Given the description of an element on the screen output the (x, y) to click on. 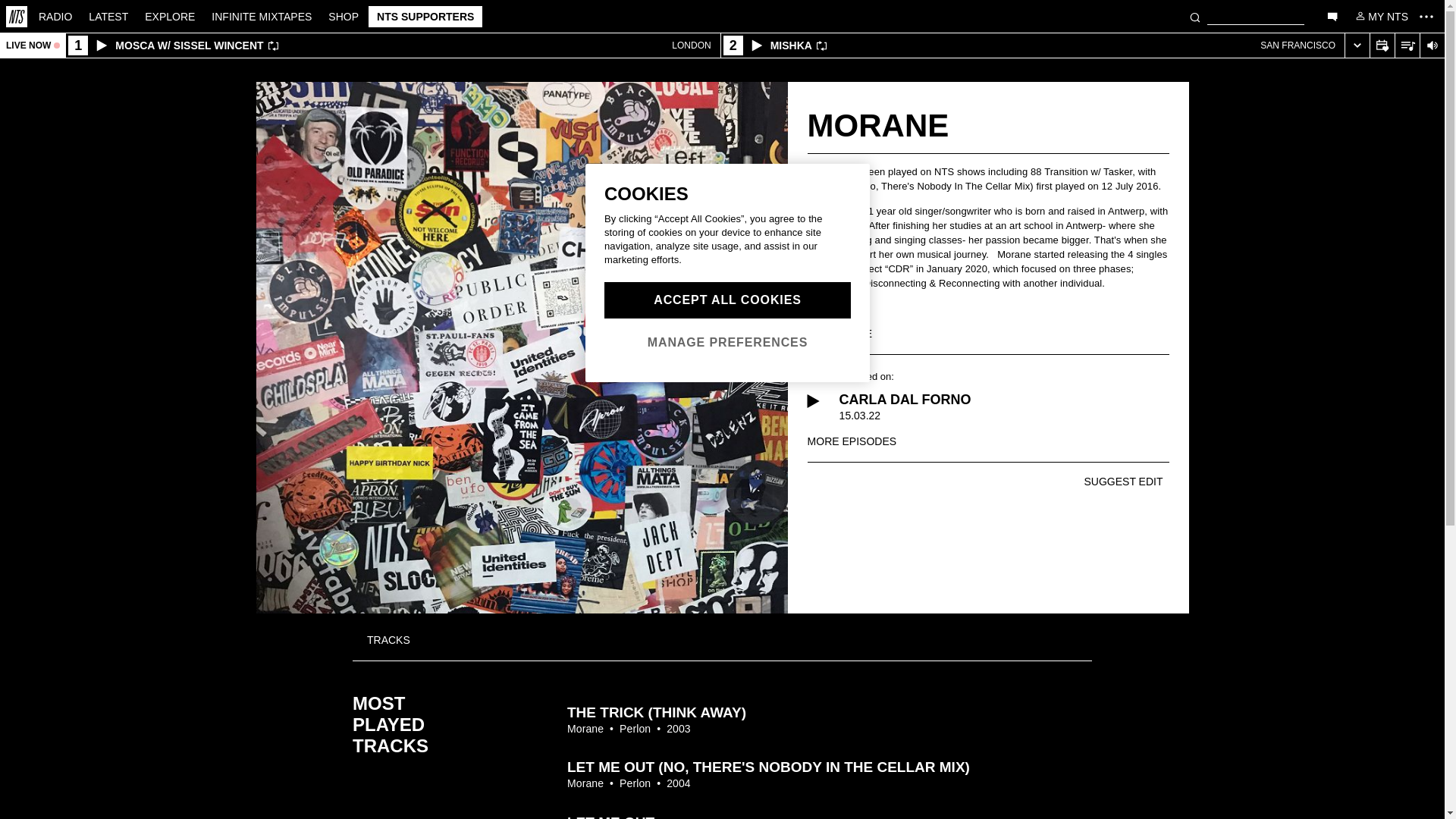
SHOP (343, 15)
EXPLORE (169, 15)
Toggle navigation menu (1425, 16)
INFINITE MIXTAPES (261, 15)
RADIO (55, 15)
MY NTS (1031, 45)
LATEST (1380, 15)
NTS SUPPORTERS (108, 15)
